Given the description of an element on the screen output the (x, y) to click on. 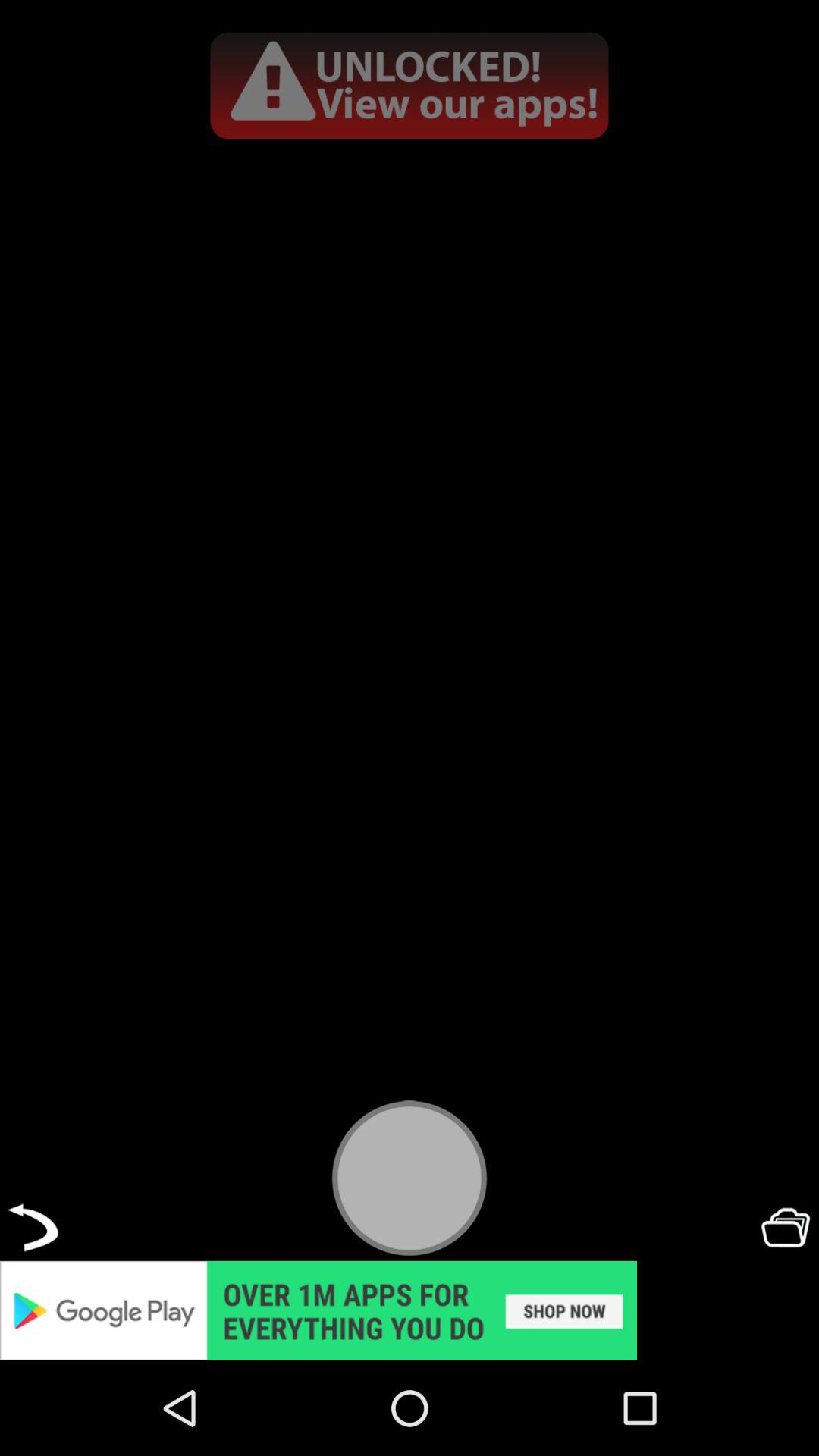
view all apps (409, 85)
